Given the description of an element on the screen output the (x, y) to click on. 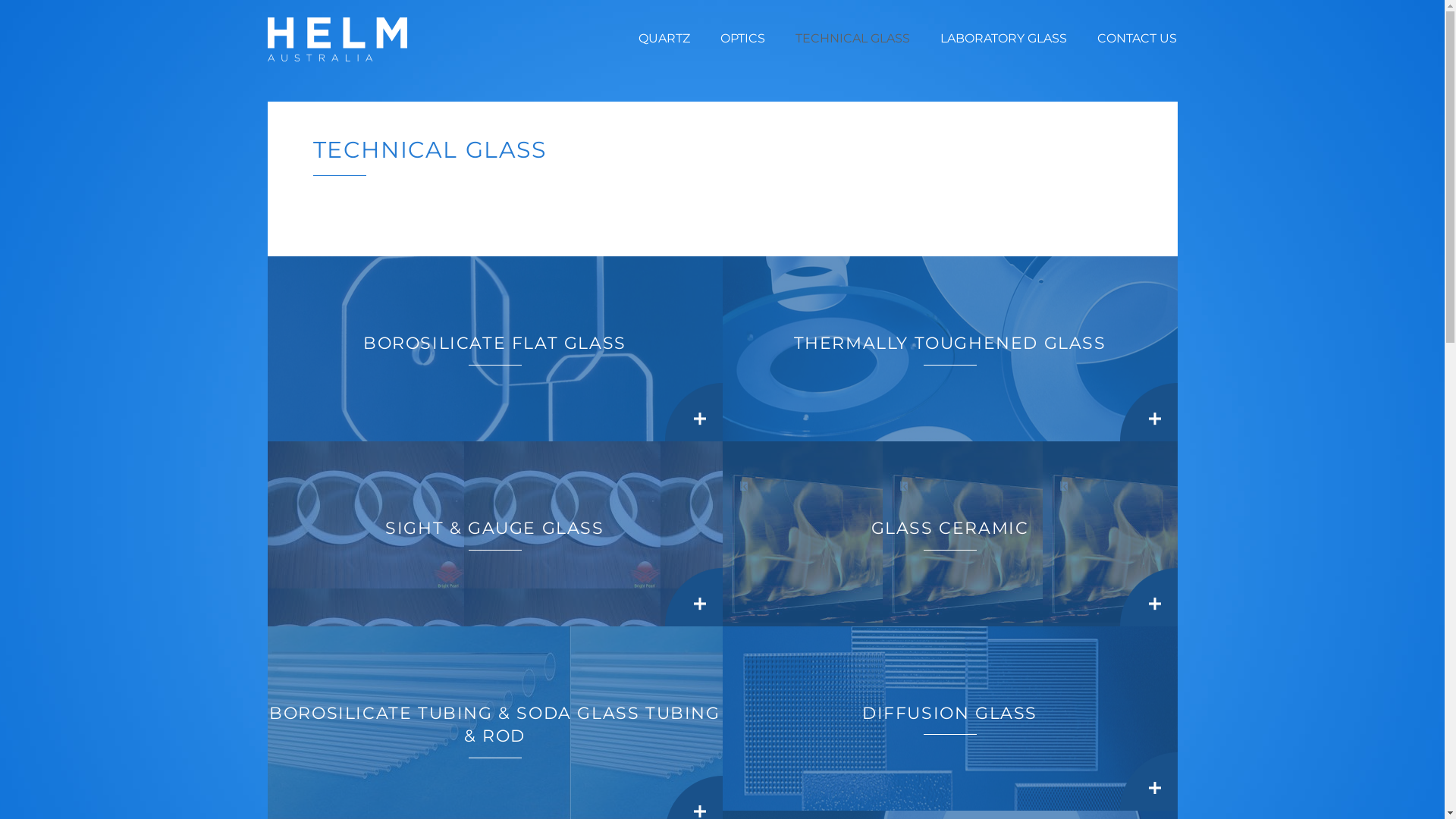
Helm Australia Element type: hover (336, 39)
LABORATORY GLASS Element type: text (1003, 38)
GLASS CERAMIC Element type: text (948, 533)
CONTACT US Element type: text (1136, 38)
THERMALLY TOUGHENED GLASS Element type: text (948, 348)
SIGHT & GAUGE GLASS Element type: text (493, 533)
QUARTZ Element type: text (664, 38)
BOROSILICATE FLAT GLASS Element type: text (493, 348)
DIFFUSION GLASS Element type: text (948, 718)
OPTICS Element type: text (742, 38)
TECHNICAL GLASS Element type: text (852, 38)
